Given the description of an element on the screen output the (x, y) to click on. 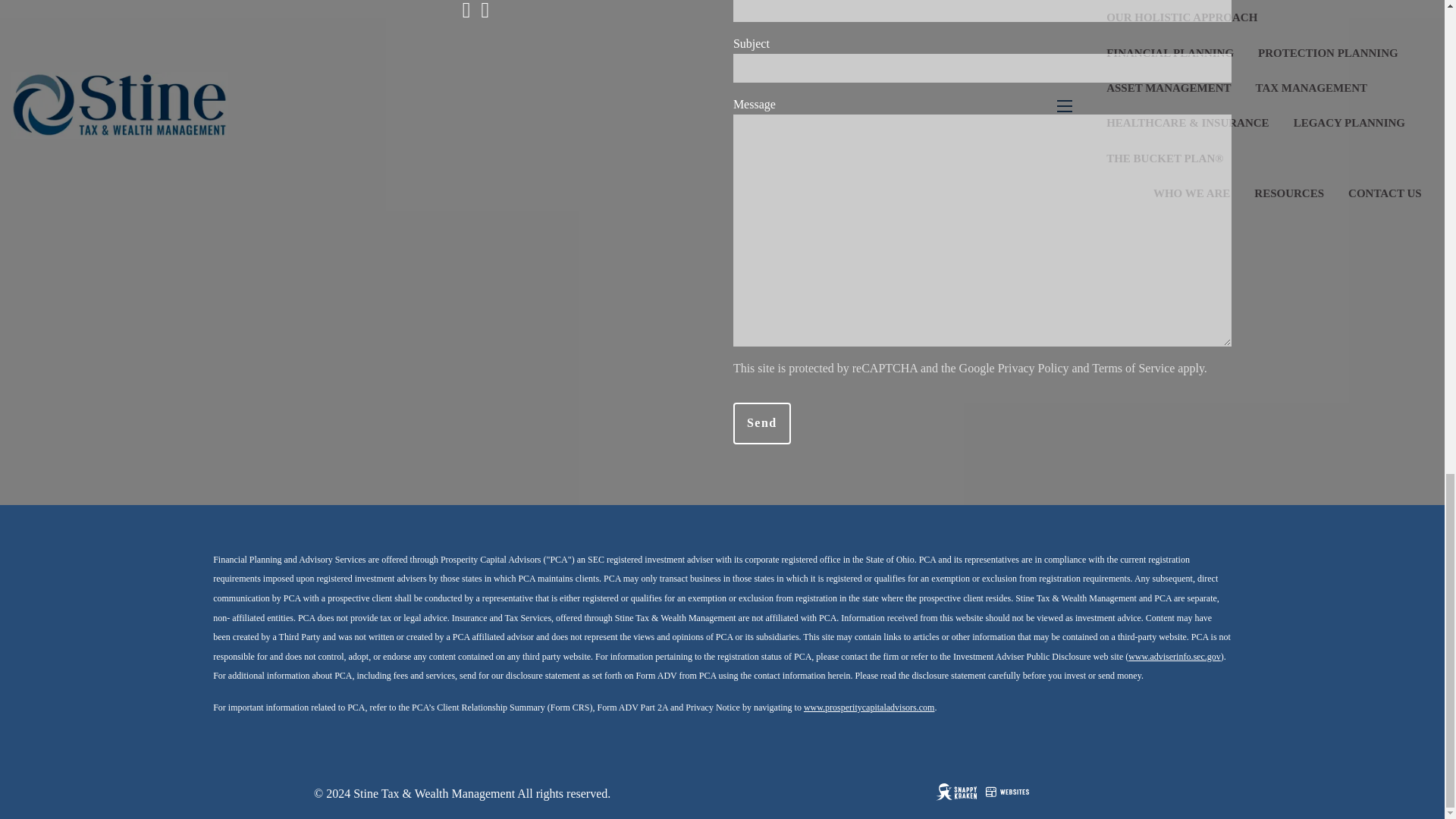
Send (761, 423)
www.adviserinfo.sec.gov (1174, 656)
www.prosperitycapitaladvisors.com (868, 706)
Terms of Service (1133, 367)
Privacy Policy (1032, 367)
Send (761, 423)
